Given the description of an element on the screen output the (x, y) to click on. 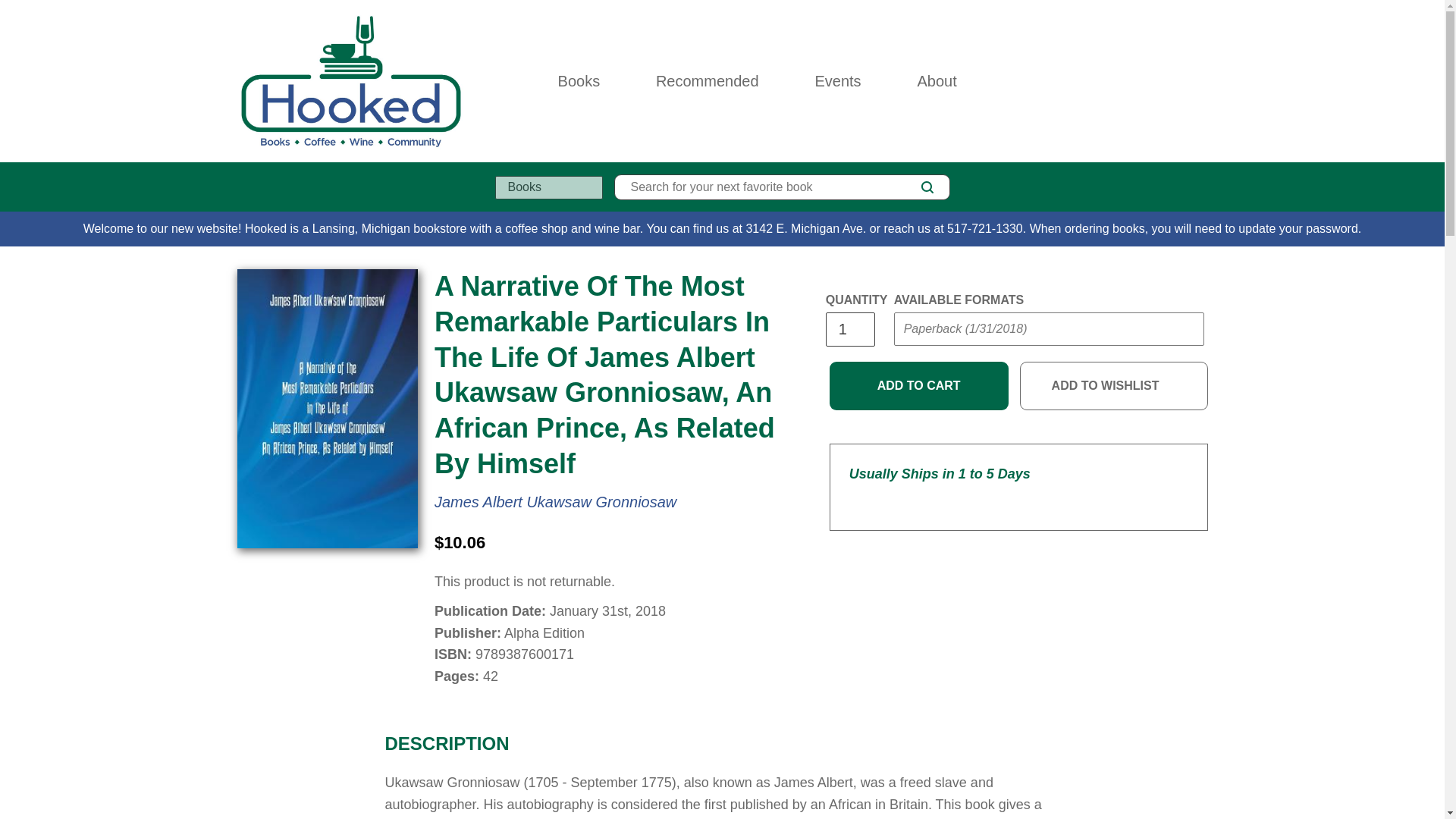
Books (578, 80)
Log in (1134, 80)
1 (850, 329)
Events (837, 80)
Wishlist (1168, 80)
Recommended (707, 80)
Cart (1201, 80)
Add to cart (919, 385)
